Given the description of an element on the screen output the (x, y) to click on. 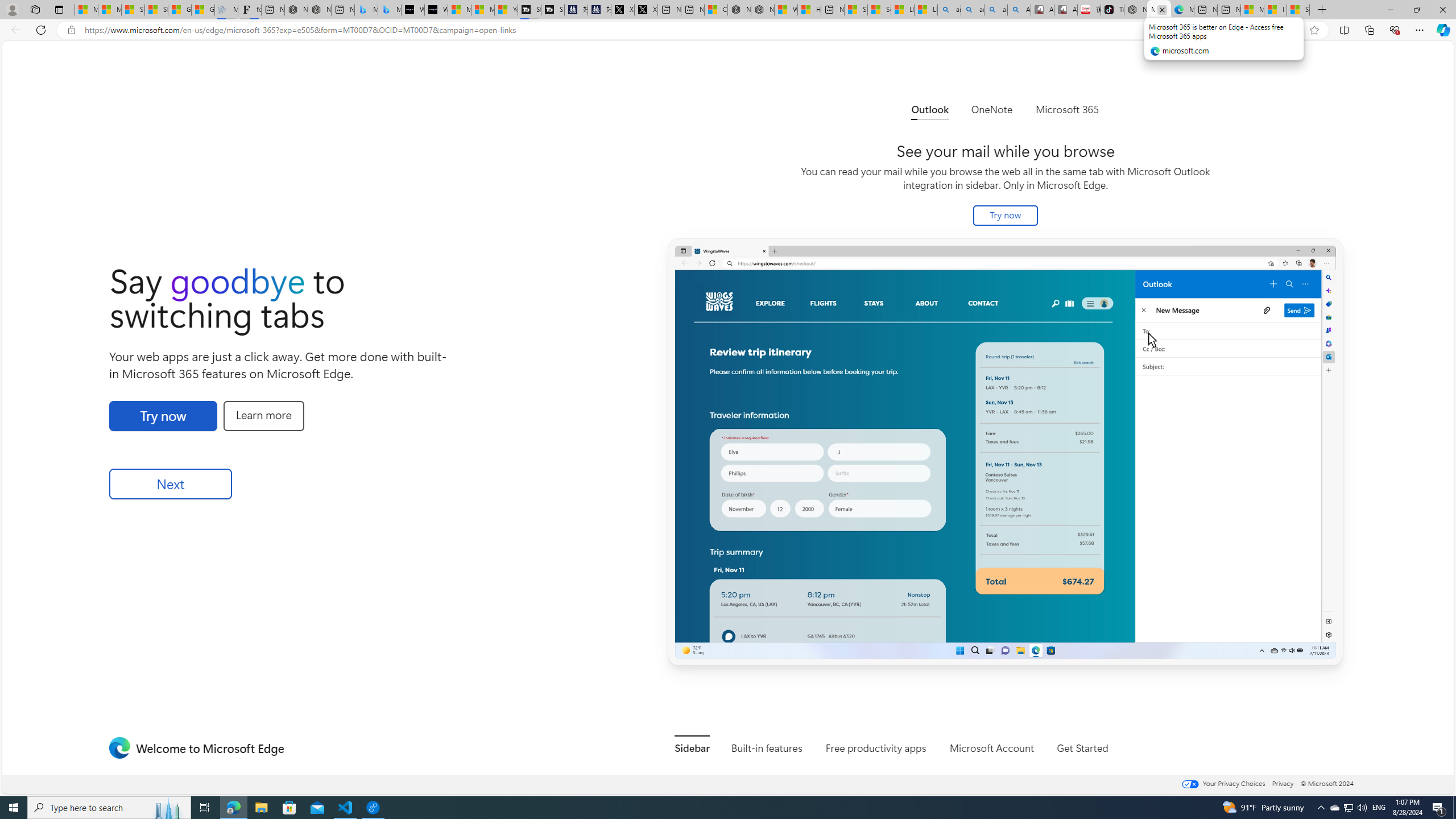
All Cubot phones (1065, 9)
Microsoft Bing Travel - Stays in Bangkok, Bangkok, Thailand (365, 9)
Enhance video (1291, 29)
Huge shark washes ashore at New York City beach | Watch (809, 9)
Nordace - Best Sellers (1135, 9)
amazon - Search Images (995, 9)
